Given the description of an element on the screen output the (x, y) to click on. 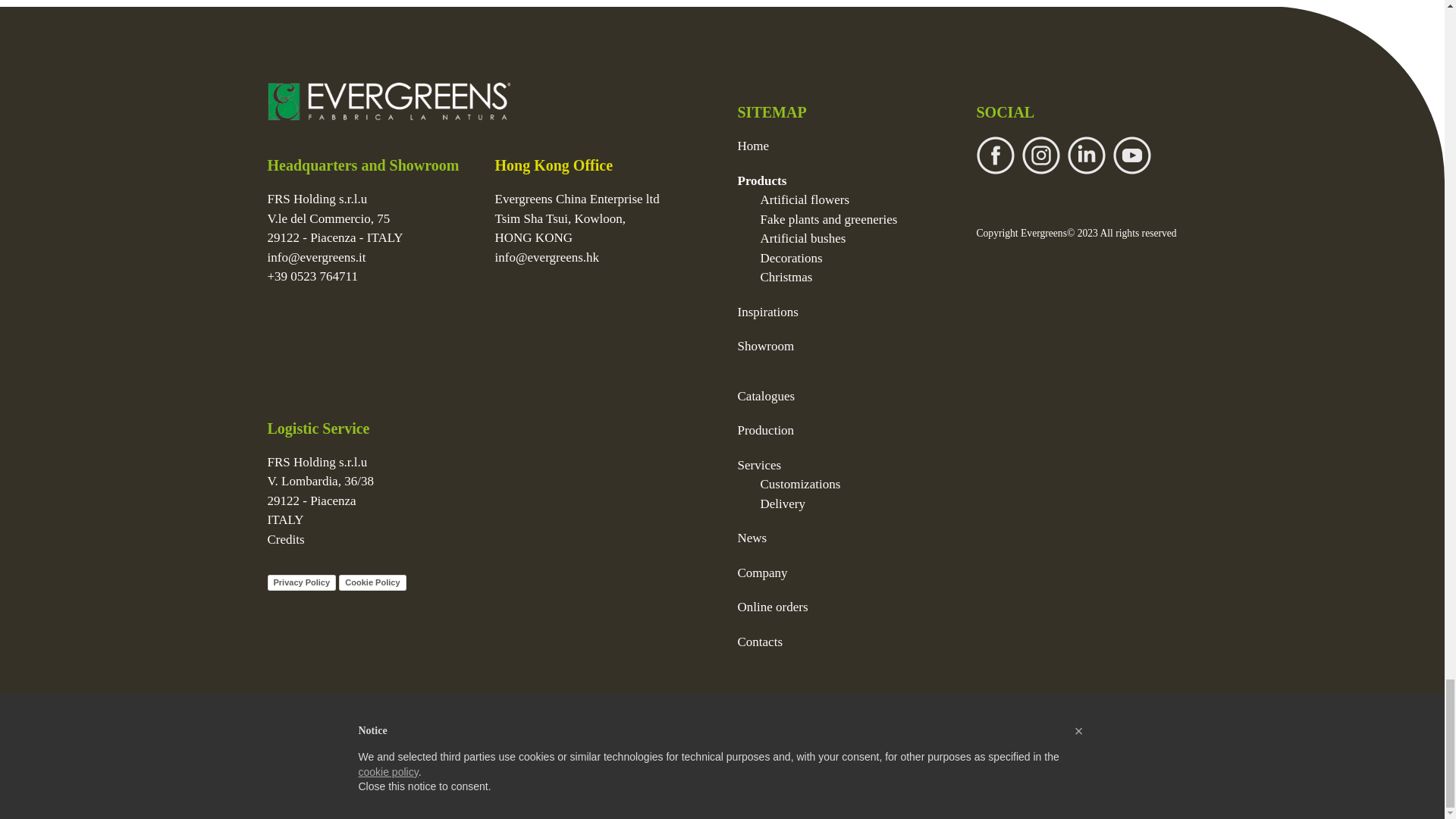
Cookie Policy  (372, 582)
Inspirations (766, 311)
Catalogues (765, 396)
Services (758, 464)
Privacy Policy  (301, 582)
Customizations (800, 483)
Production (764, 430)
